Given the description of an element on the screen output the (x, y) to click on. 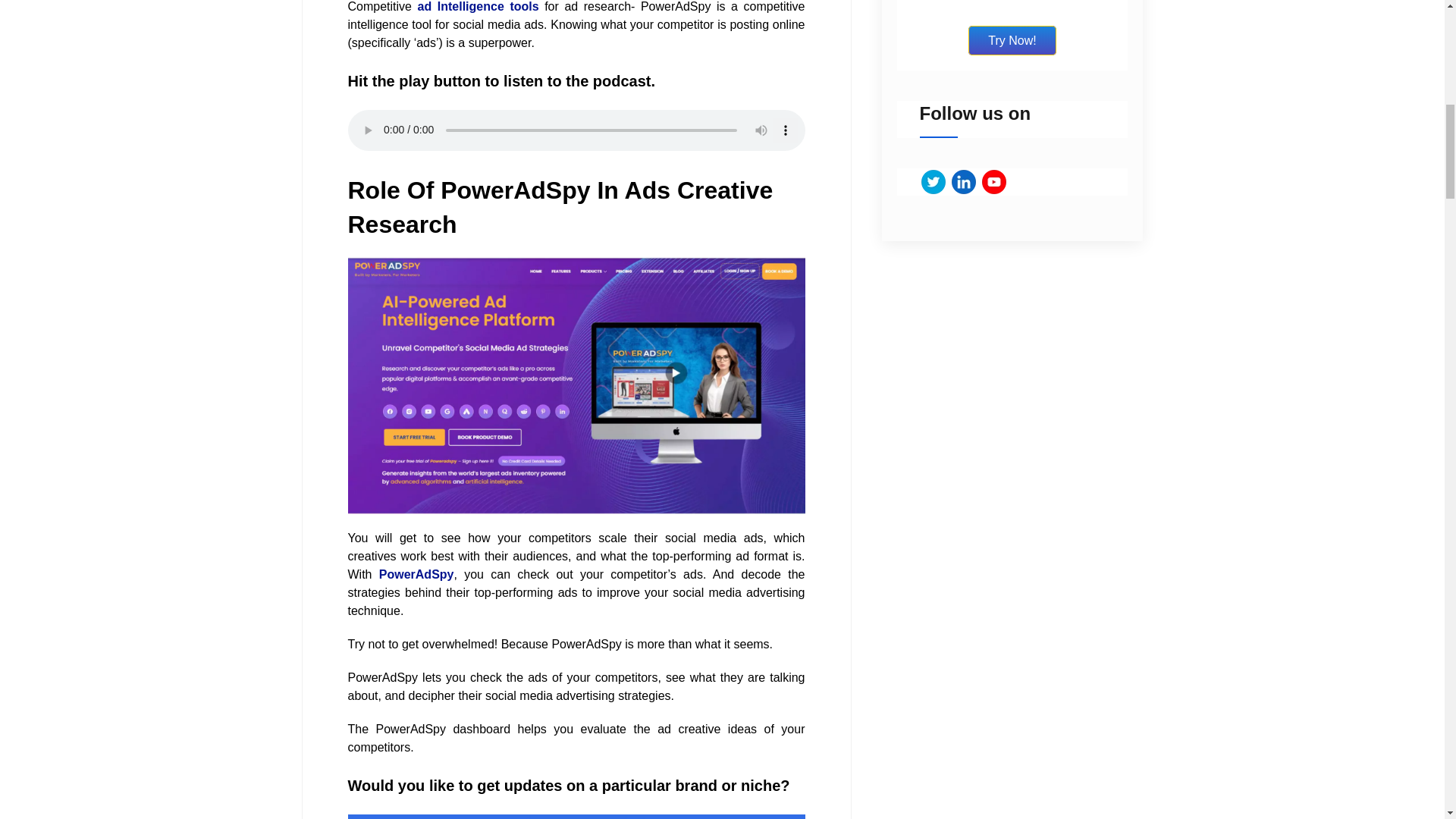
Ad Intelligence Tool (576, 384)
